Given the description of an element on the screen output the (x, y) to click on. 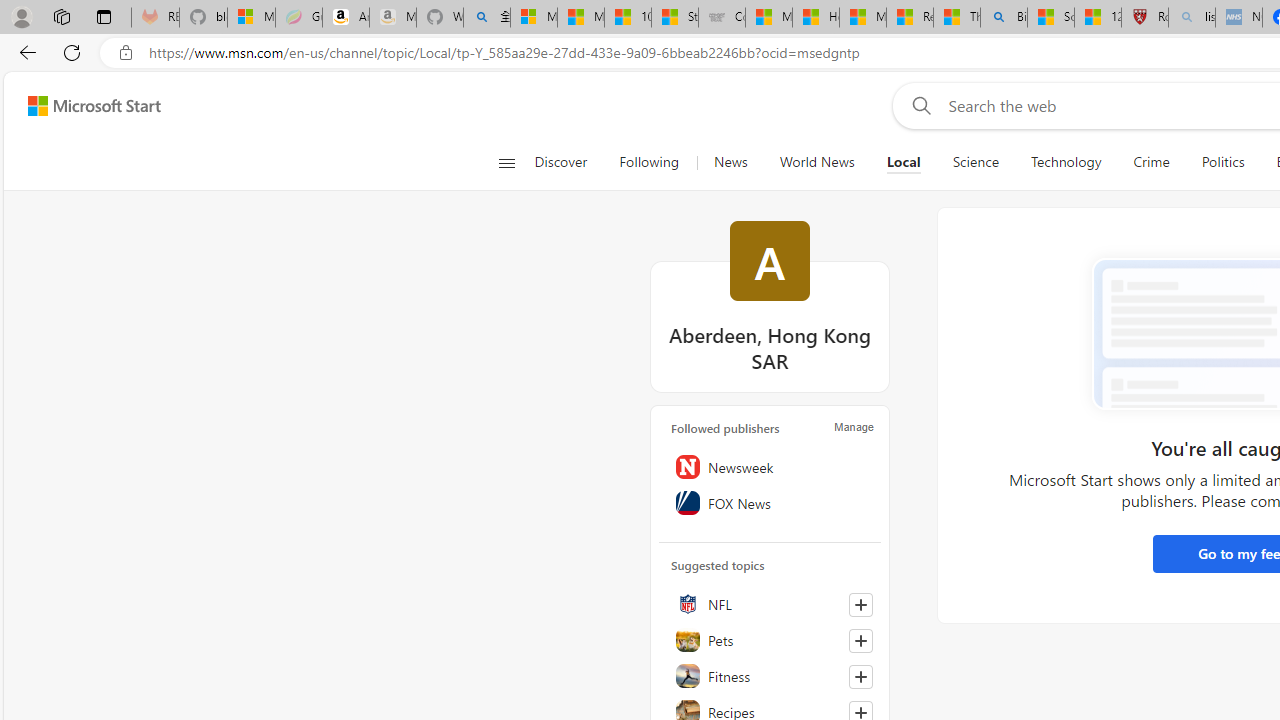
FOX News (770, 502)
